Given the description of an element on the screen output the (x, y) to click on. 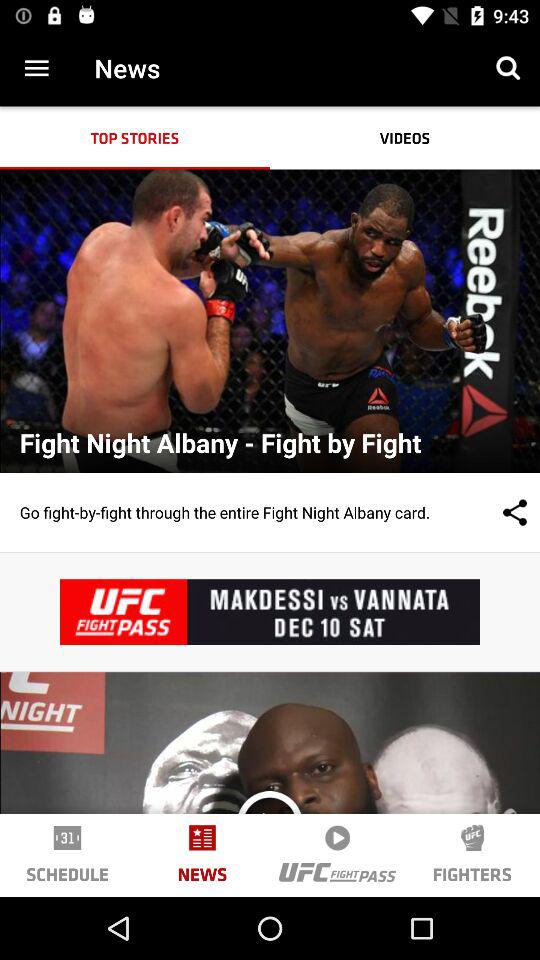
go to the page related to the advertisement (270, 612)
